Given the description of an element on the screen output the (x, y) to click on. 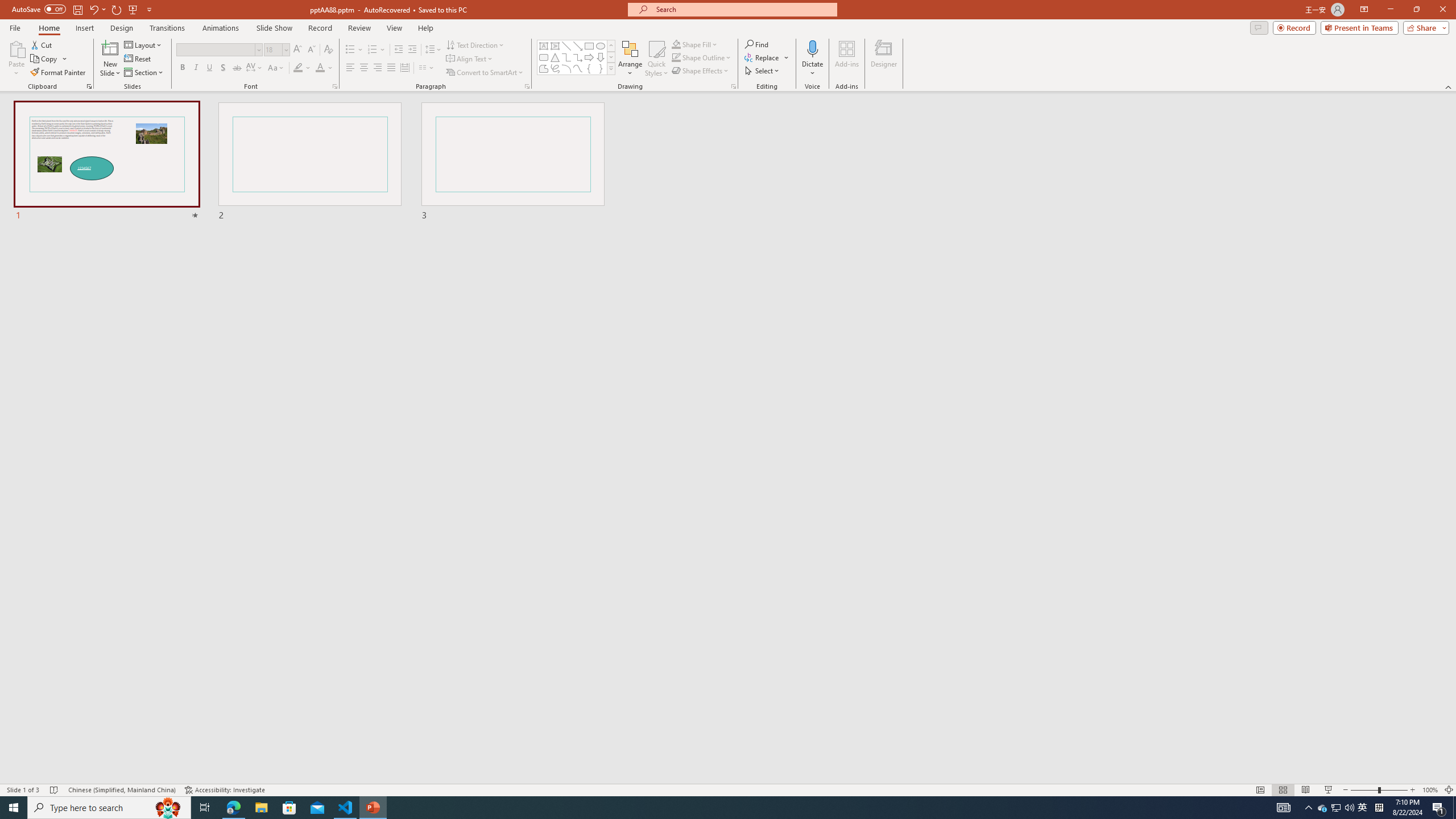
Zoom 100% (1430, 790)
